Given the description of an element on the screen output the (x, y) to click on. 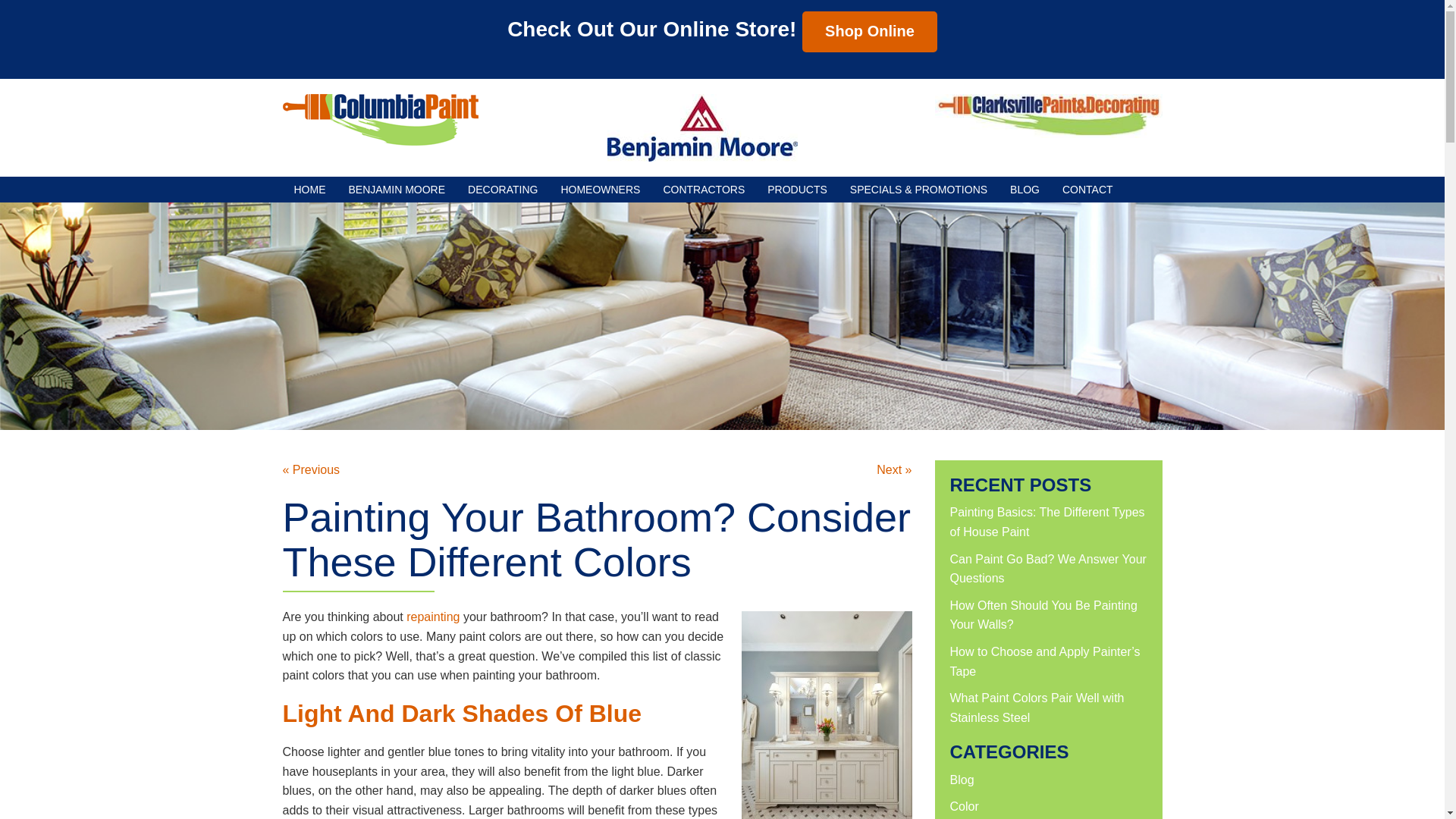
Painting Basics: The Different Types of House Paint (1046, 522)
Color (963, 806)
Shop Online (869, 31)
BLOG (1024, 189)
Benjamin Moore Paint (701, 127)
BENJAMIN MOORE (396, 189)
How Often Should You Be Painting Your Walls? (1043, 614)
CONTACT (1087, 189)
Blog (961, 779)
PRODUCTS (796, 189)
DECORATING (502, 189)
HOME (309, 189)
HOMEOWNERS (599, 189)
Can Paint Go Bad? We Answer Your Questions (1047, 568)
repainting (433, 616)
